Given the description of an element on the screen output the (x, y) to click on. 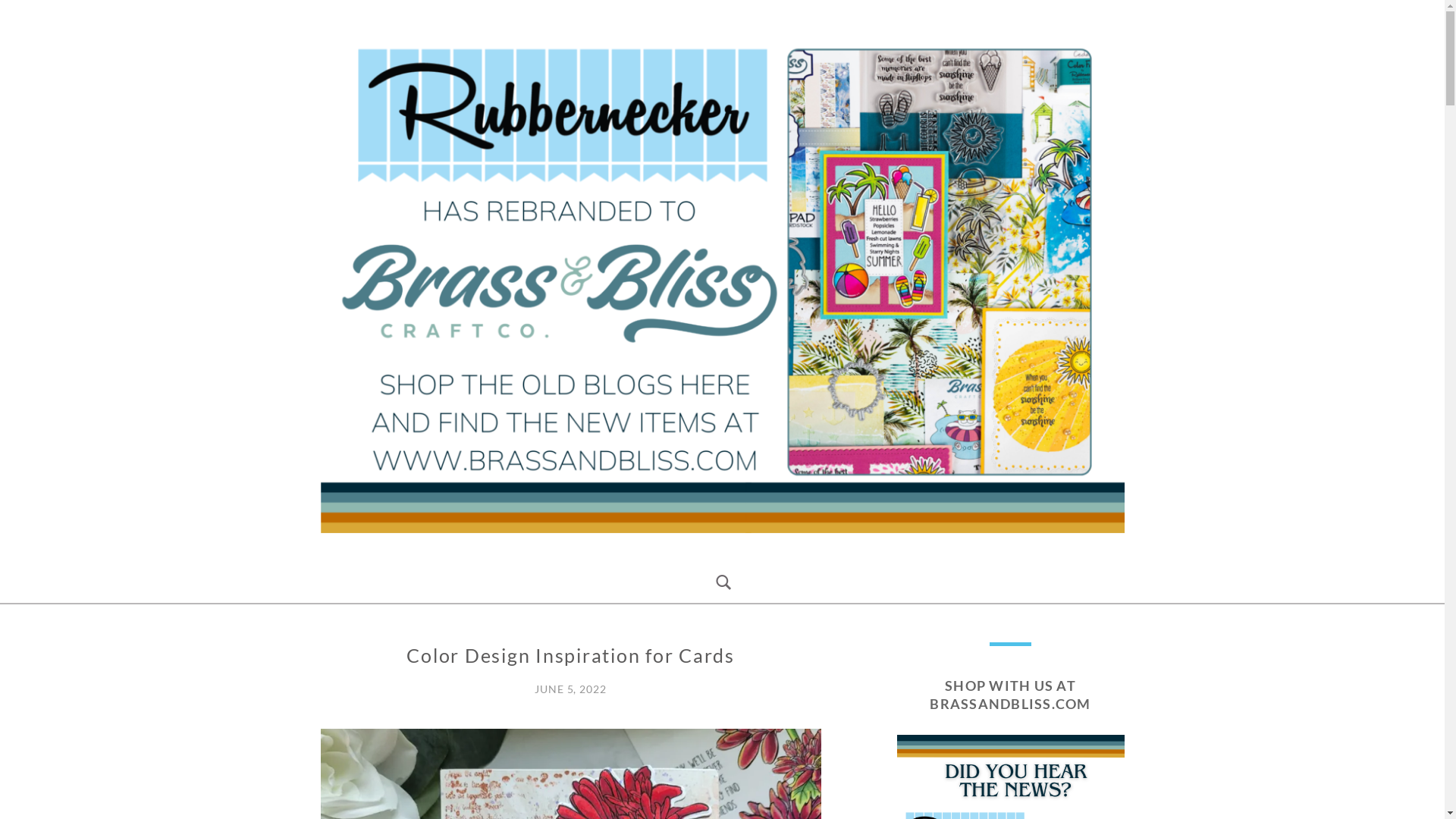
JUNE 5, 2022 (570, 688)
RUBBERNECKER BLOG (499, 553)
COLOR FUSE (348, 660)
